Given the description of an element on the screen output the (x, y) to click on. 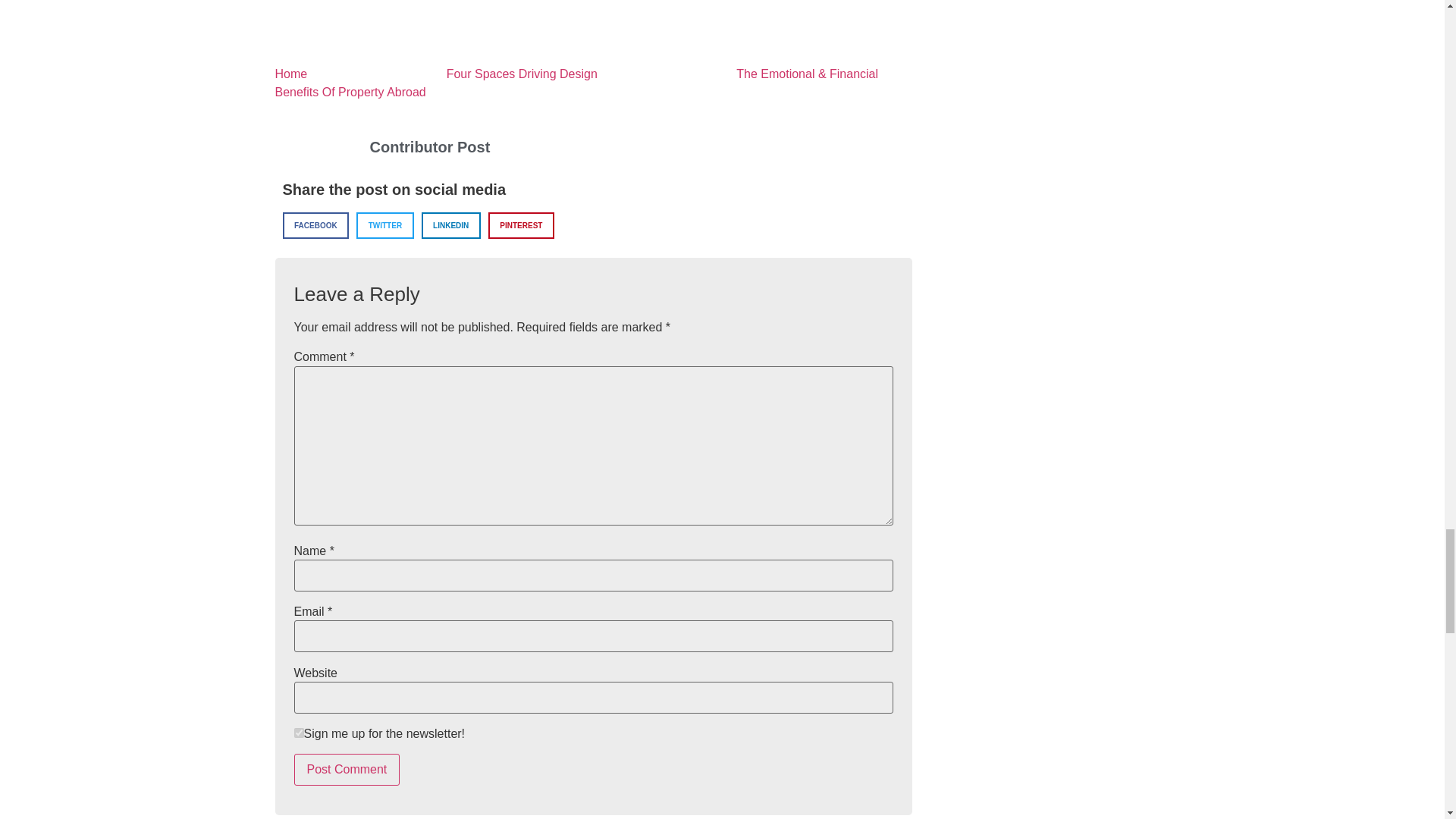
Tour the 2017 New American Home (583, 40)
1 (299, 732)
Post Comment (347, 769)
Four Spaces Driving Design (461, 73)
Four Spaces Driving Design (380, 37)
